Given the description of an element on the screen output the (x, y) to click on. 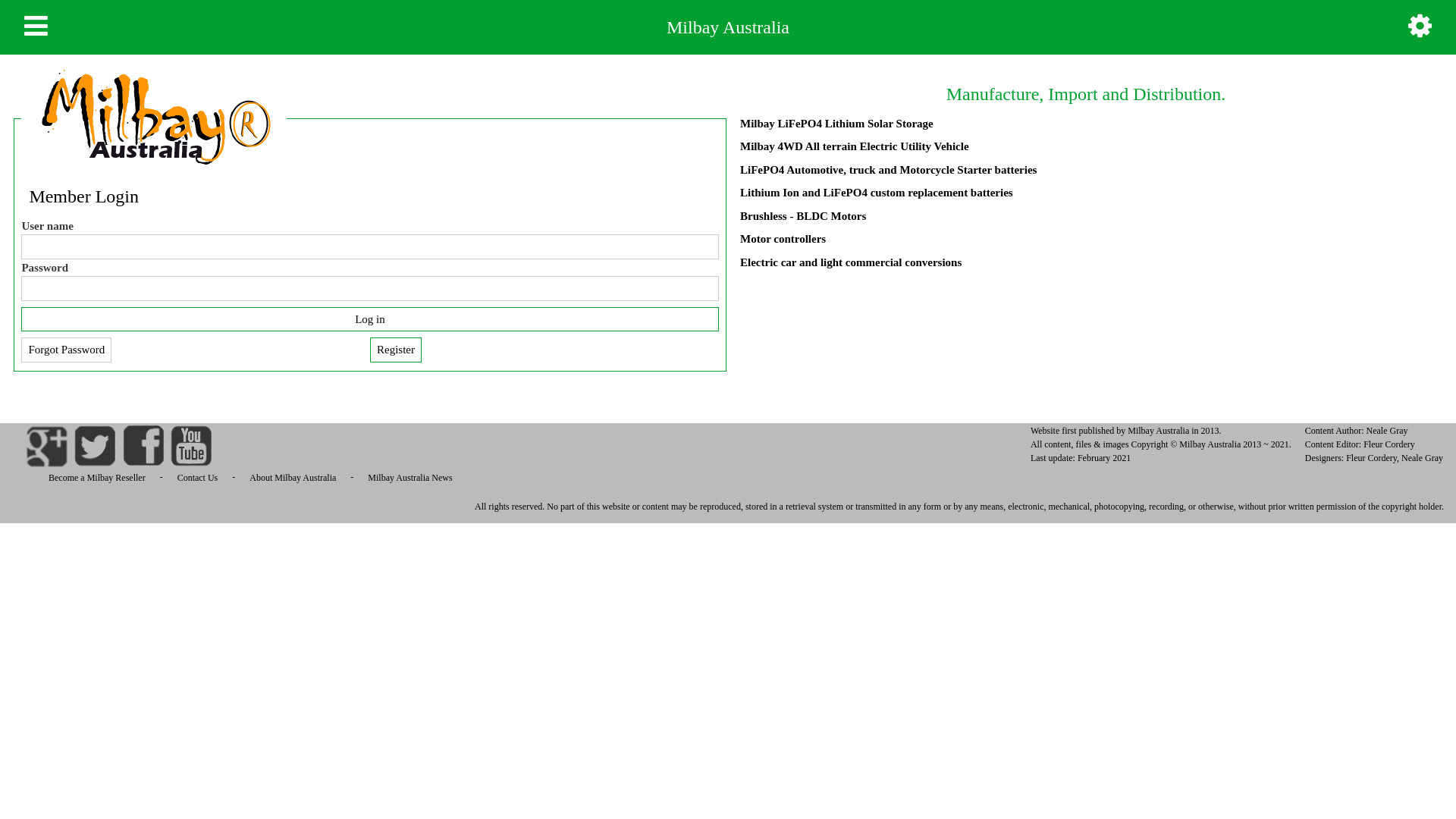
Contact Us Element type: text (197, 477)
Become a Milbay Reseller Element type: text (96, 477)
Milbay Australia News Element type: text (409, 477)
Forgot Password Element type: text (66, 349)
Log in Element type: text (369, 319)
Register Element type: text (395, 349)
About Milbay Australia Element type: text (292, 477)
